Given the description of an element on the screen output the (x, y) to click on. 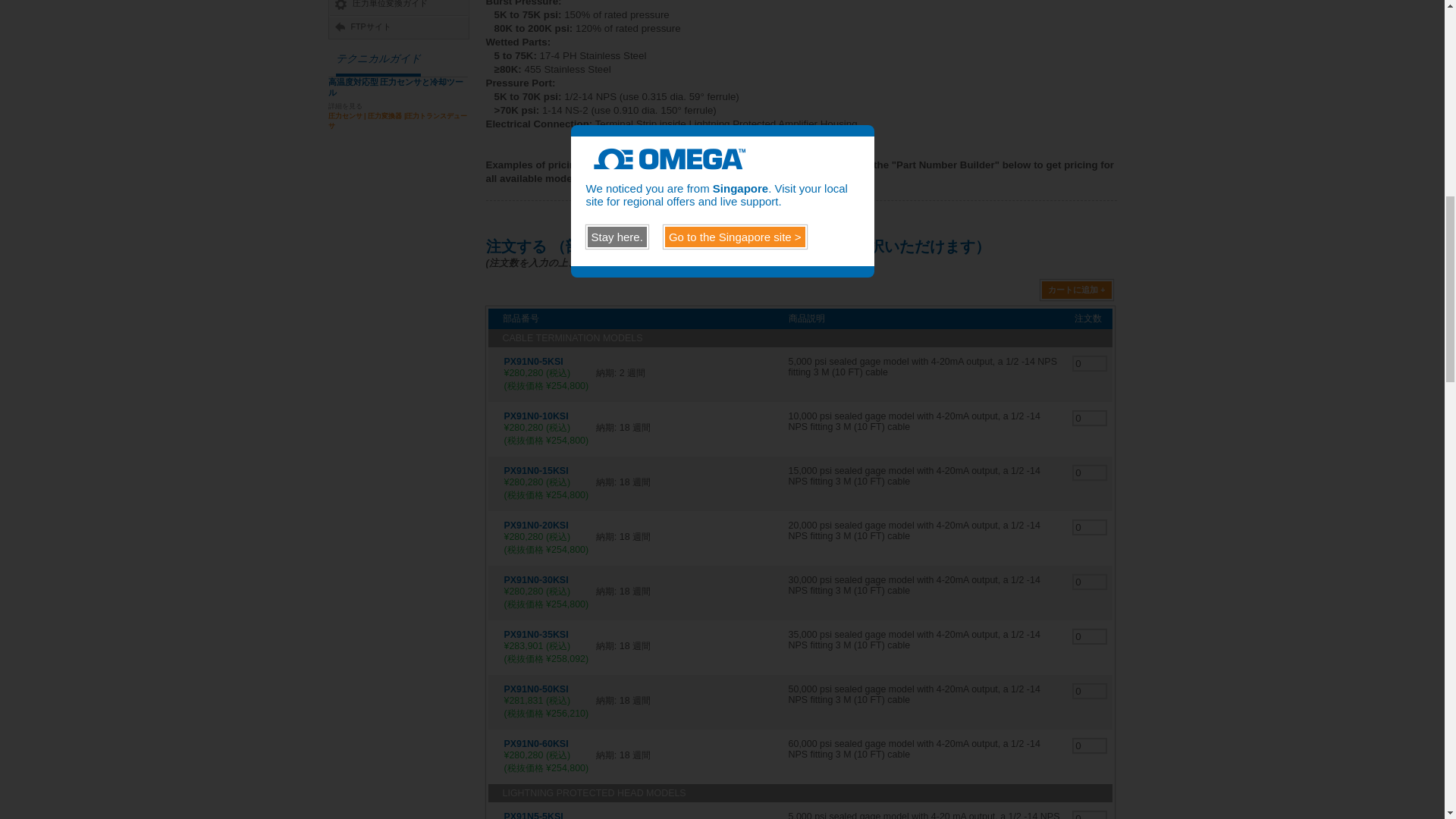
0 (1089, 581)
0 (1089, 745)
0 (1089, 815)
0 (1089, 636)
0 (1089, 472)
0 (1089, 527)
0 (1089, 418)
0 (1089, 690)
0 (1089, 363)
